Given the description of an element on the screen output the (x, y) to click on. 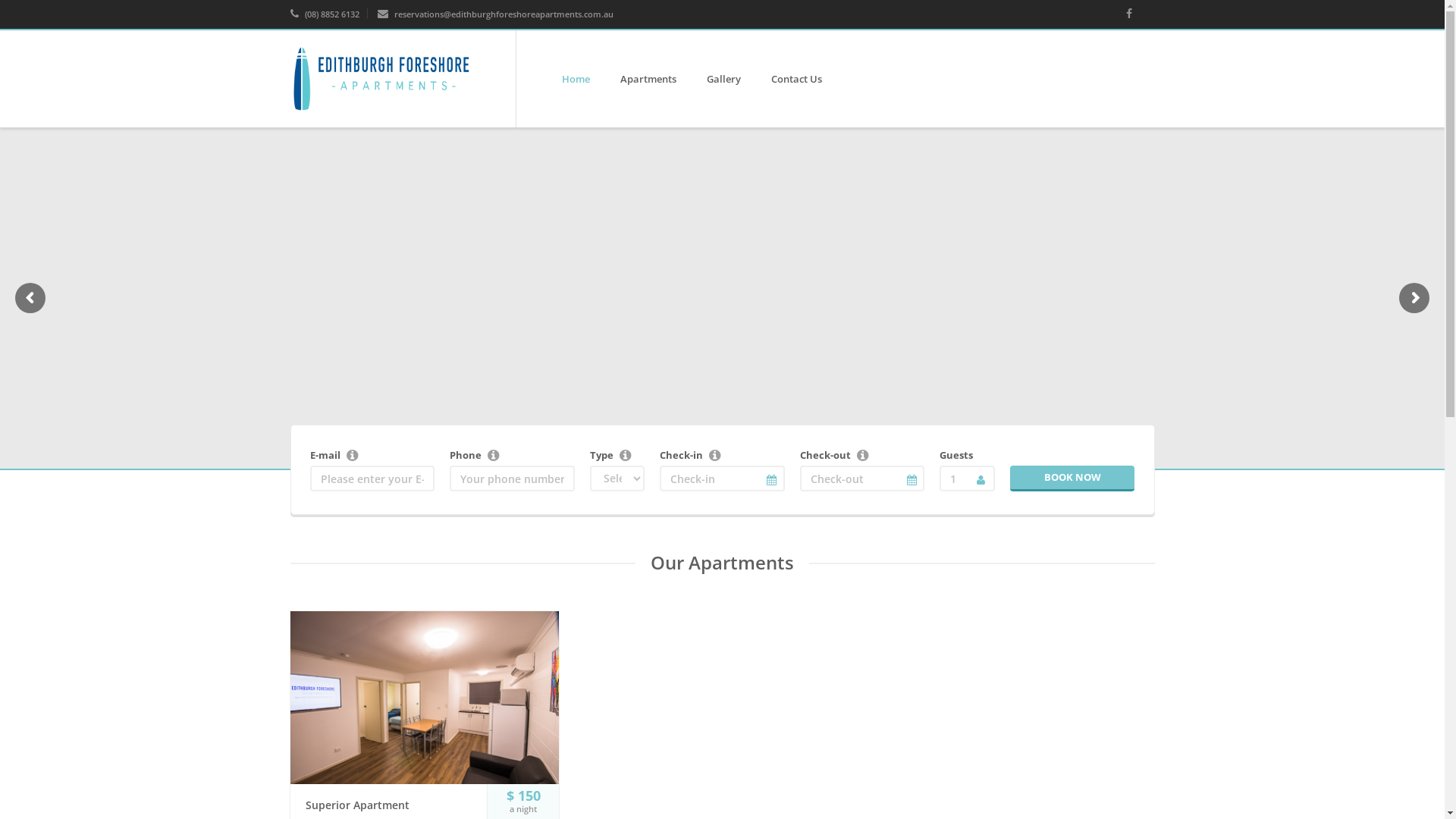
BOOK NOW Element type: text (1072, 478)
Apartments Element type: text (648, 78)
Home Element type: text (575, 78)
reservations@edithburghforeshoreapartments.com.au Element type: text (495, 13)
Gallery Element type: text (723, 78)
(08) 8852 6132 Element type: text (323, 13)
Contact Us Element type: text (796, 78)
